Given the description of an element on the screen output the (x, y) to click on. 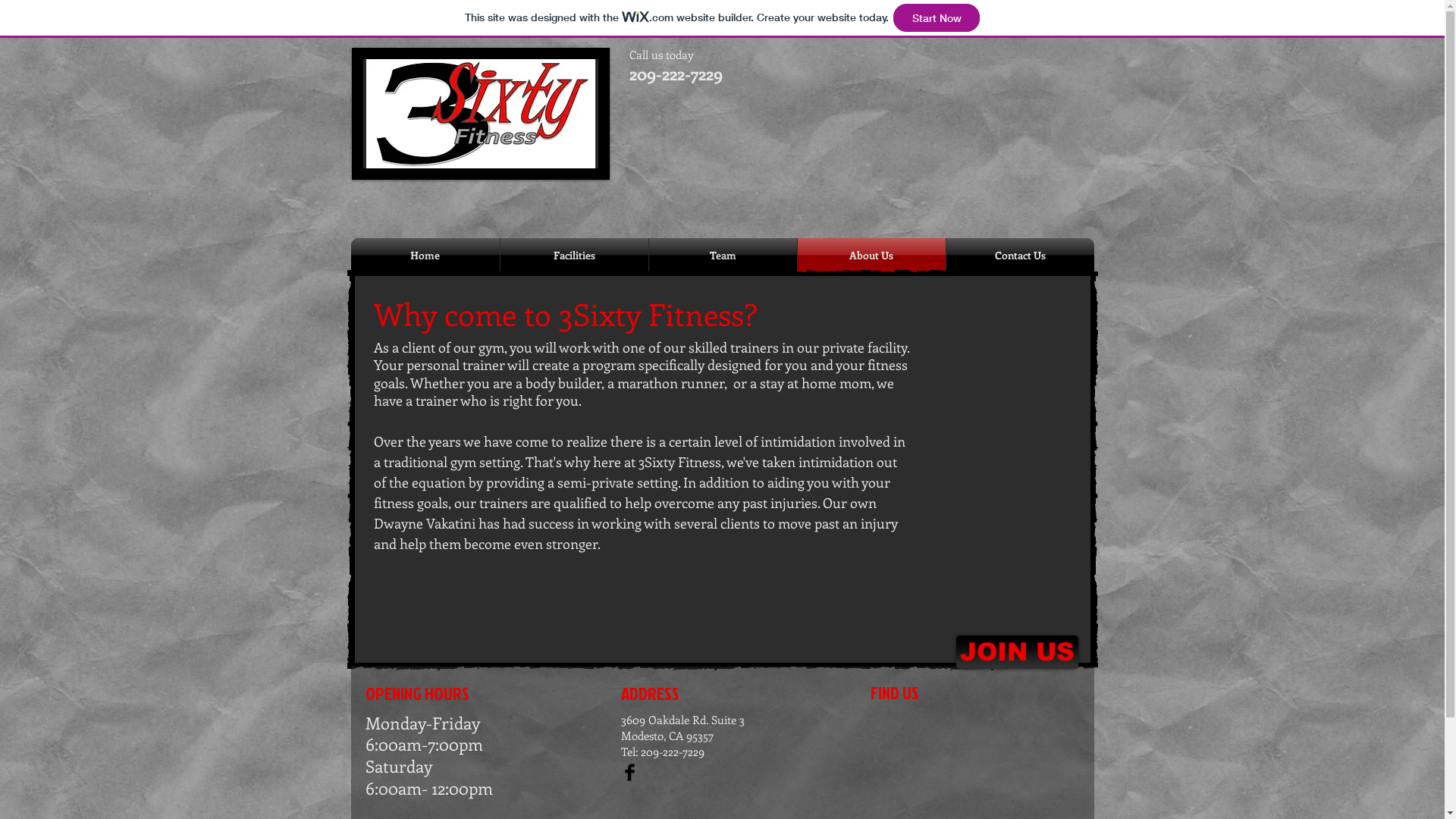
Home Element type: text (424, 255)
Team Element type: text (723, 255)
About Us Element type: text (871, 255)
Contact Us Element type: text (1020, 255)
360 signage.jpg Element type: hover (480, 113)
Facilities Element type: text (574, 255)
JOIN US Element type: text (1016, 651)
